Given the description of an element on the screen output the (x, y) to click on. 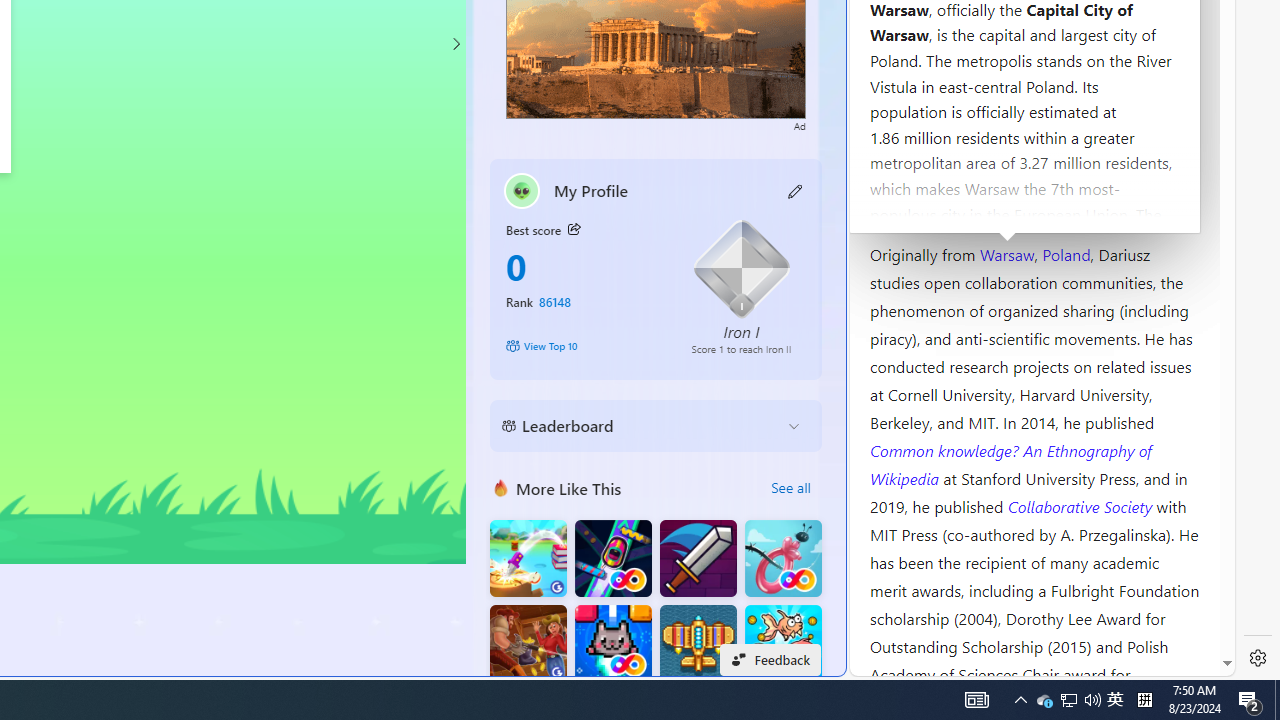
More Like This (501, 487)
Dungeon Master Knight (698, 558)
View Top 10 (584, 345)
Bumper Car FRVR (612, 558)
Kozminski University (1034, 136)
Knife Flip (528, 558)
See all (790, 487)
See all (790, 487)
Atlantic Sky Hunter (698, 643)
